Given the description of an element on the screen output the (x, y) to click on. 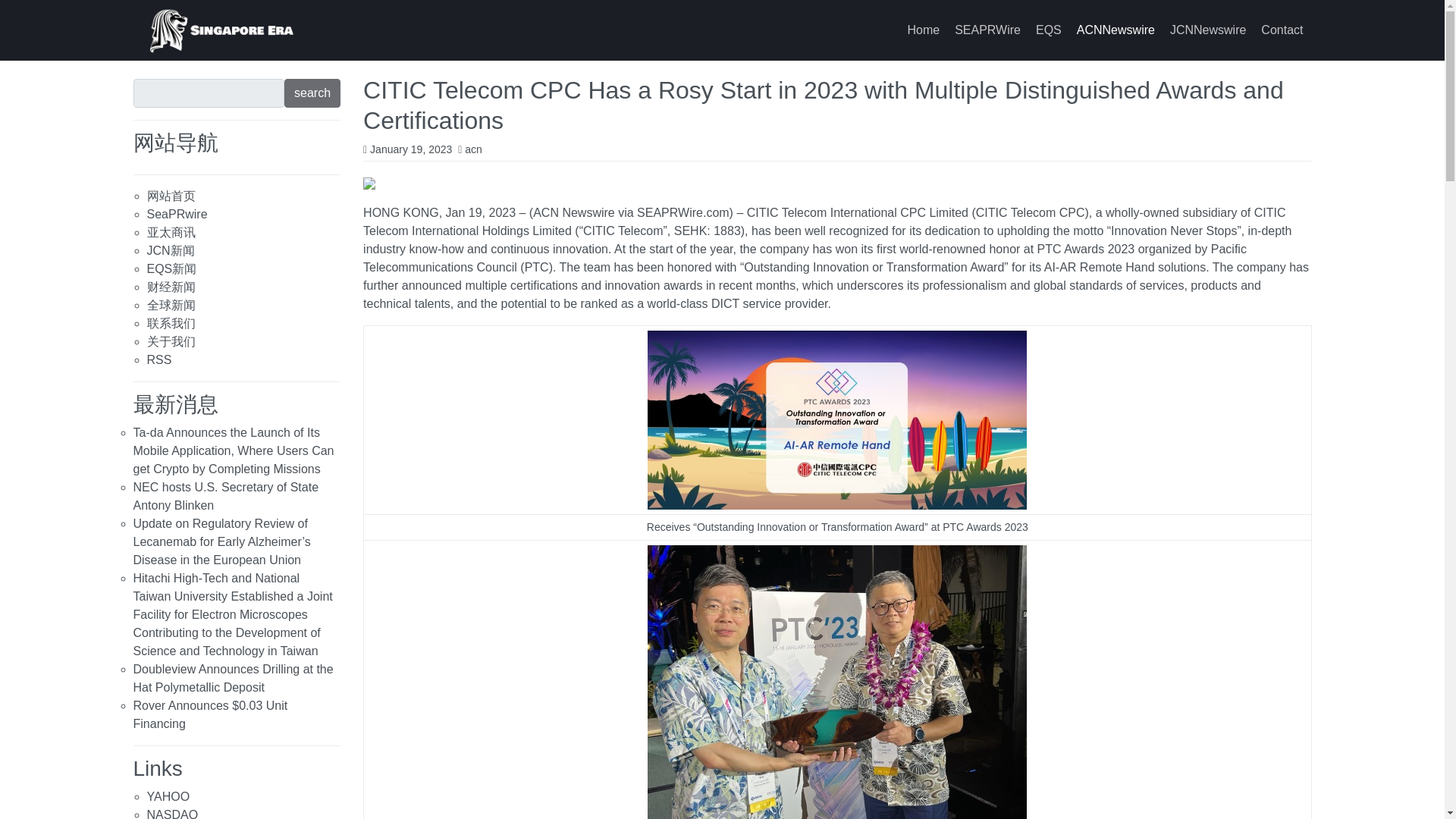
search (311, 92)
Skip to content (17, 14)
NEC hosts U.S. Secretary of State Antony Blinken (225, 495)
JCNNewswire (1207, 30)
Contact (1281, 30)
January 19, 2023 (410, 149)
acn (472, 149)
SeaPRwire (177, 214)
Contact (1281, 30)
JCNNewswire (1207, 30)
Home (923, 30)
EQS (1047, 30)
EQS (1047, 30)
